Given the description of an element on the screen output the (x, y) to click on. 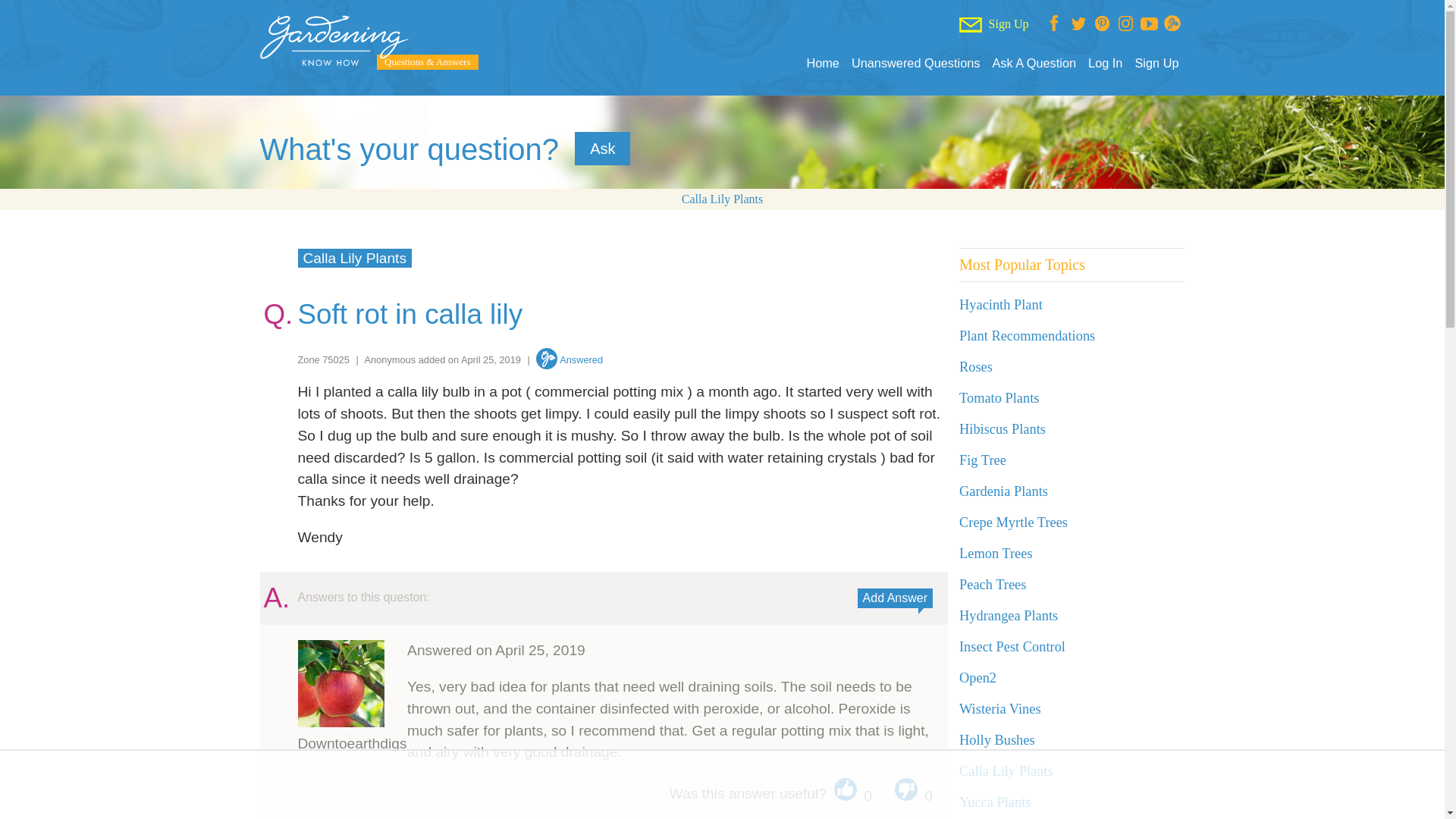
Plant Recommendations (1026, 335)
Gardenia Plants (1003, 491)
Hydrangea Plants (1008, 615)
Hydrangea Plants (1008, 615)
Fig Tree (982, 459)
Calla Lily Plants (721, 198)
Roses (975, 366)
Insect Pest Control (1012, 646)
Open2 (977, 677)
Unanswered Questions (916, 62)
Peach Trees (992, 584)
Roses (975, 366)
Lemon Trees (995, 553)
Plant Recommendations (1026, 335)
Lemon Trees (995, 553)
